Given the description of an element on the screen output the (x, y) to click on. 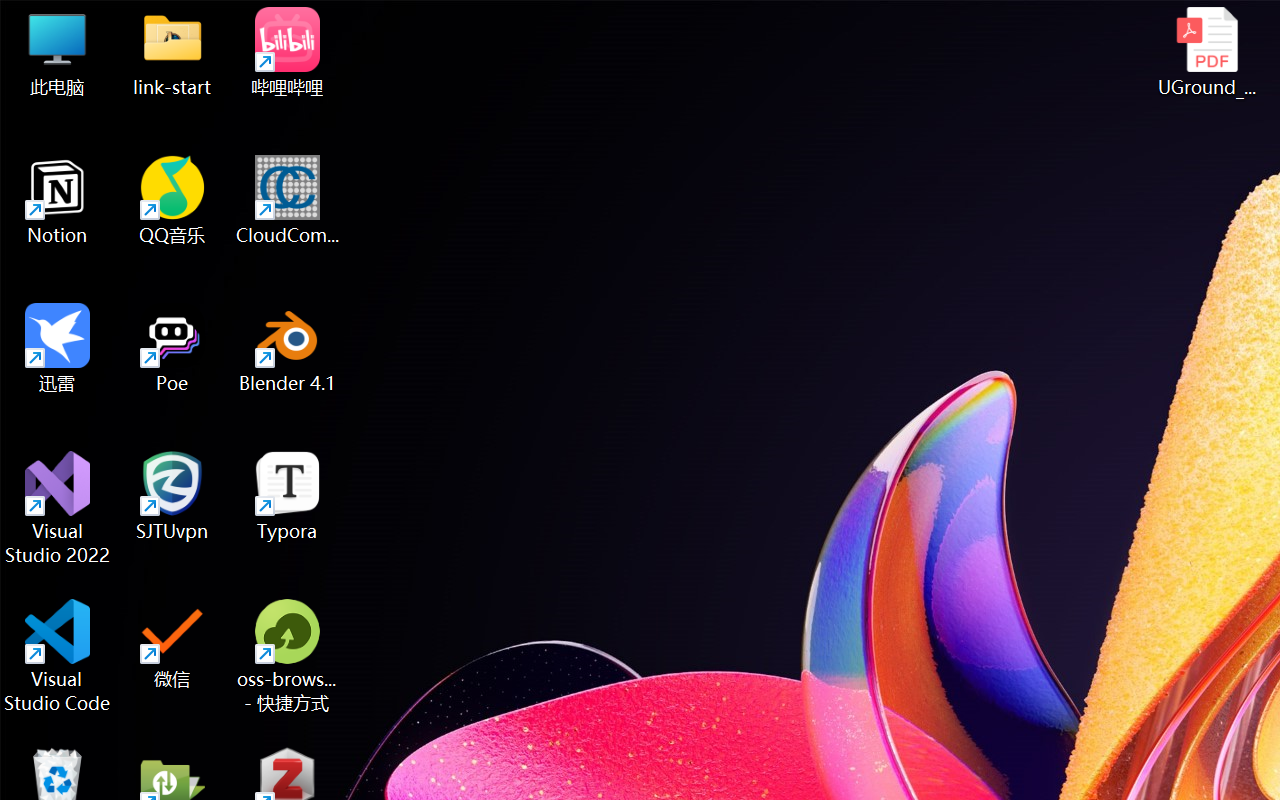
UGround_paper.pdf (1206, 52)
Visual Studio Code (57, 656)
CloudCompare (287, 200)
Typora (287, 496)
Visual Studio 2022 (57, 508)
Blender 4.1 (287, 348)
